Given the description of an element on the screen output the (x, y) to click on. 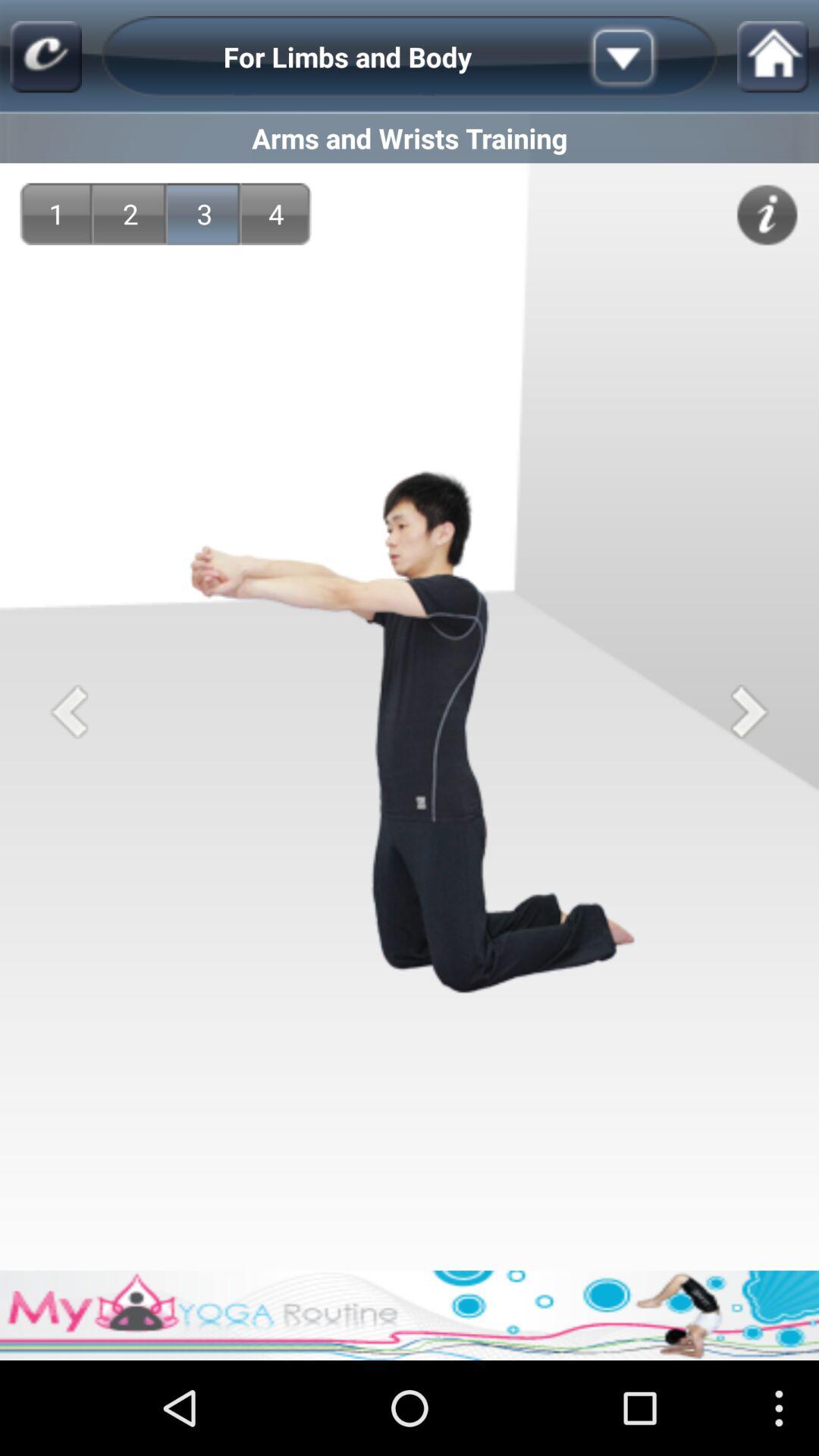
go to previous (68, 711)
